Given the description of an element on the screen output the (x, y) to click on. 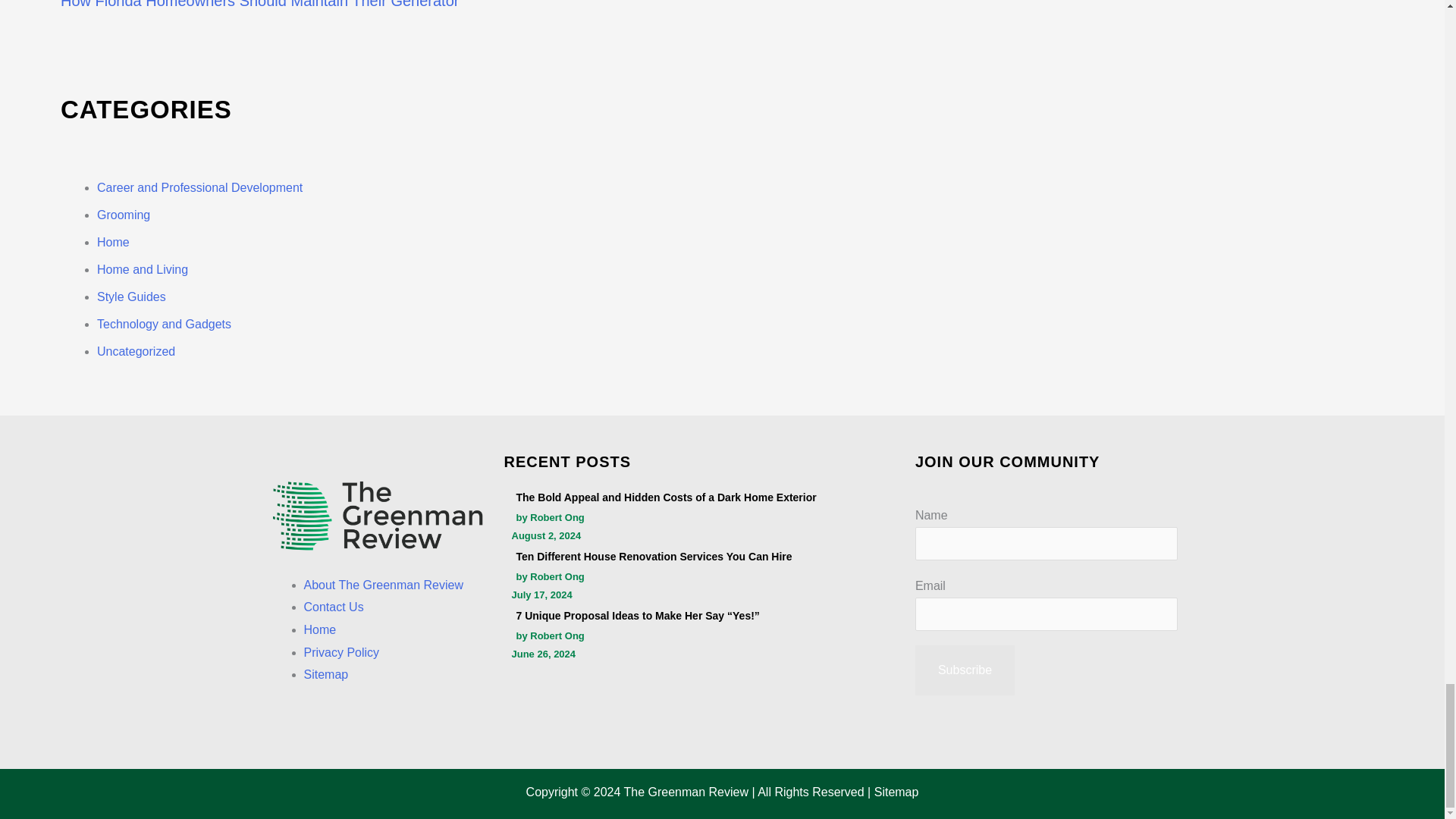
Subscribe (964, 670)
